Given the description of an element on the screen output the (x, y) to click on. 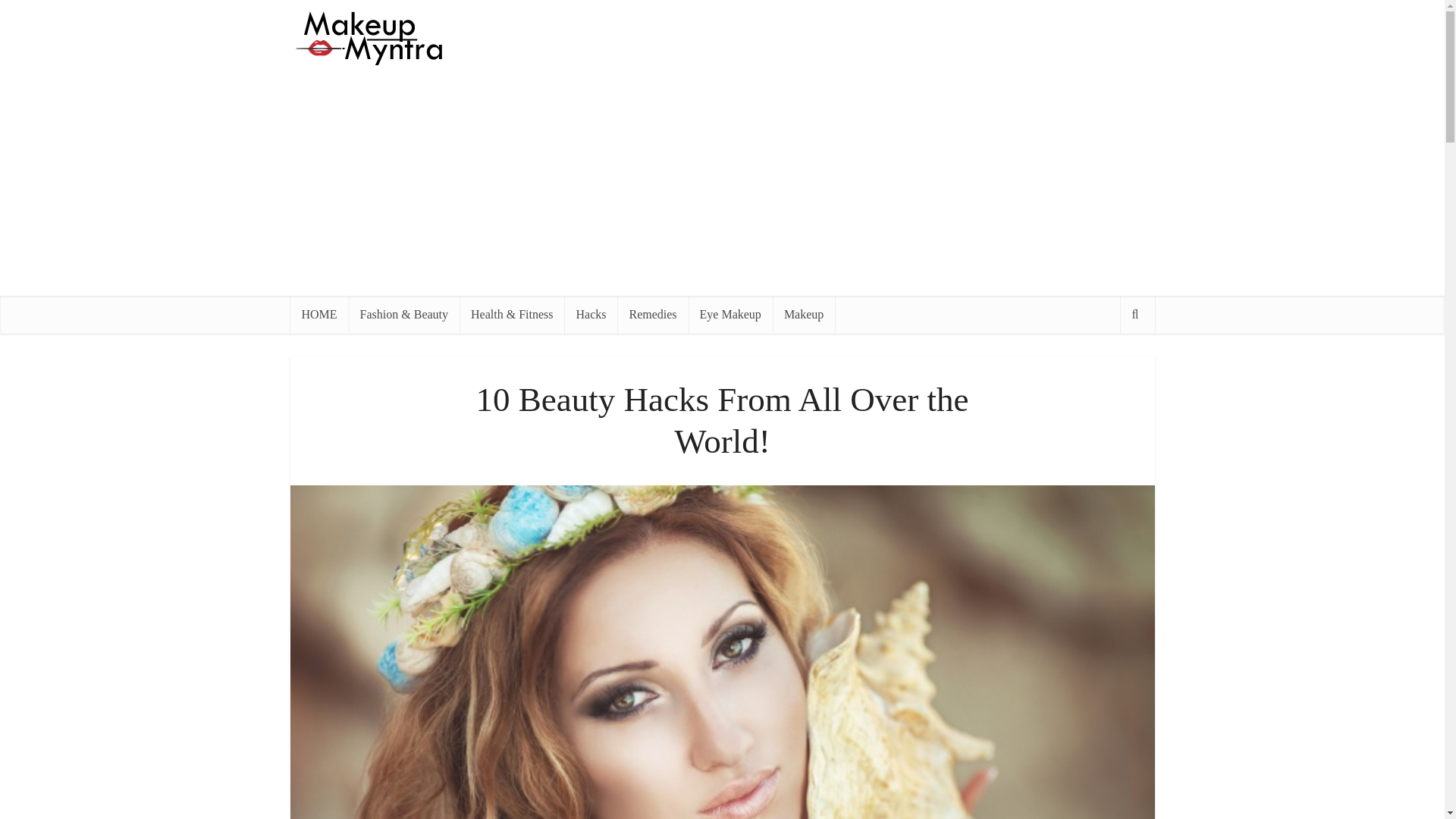
Hacks (590, 314)
Makeup Myntra (365, 38)
Remedies (652, 314)
Eye Makeup (730, 314)
HOME (318, 314)
Makeup (803, 314)
